Given the description of an element on the screen output the (x, y) to click on. 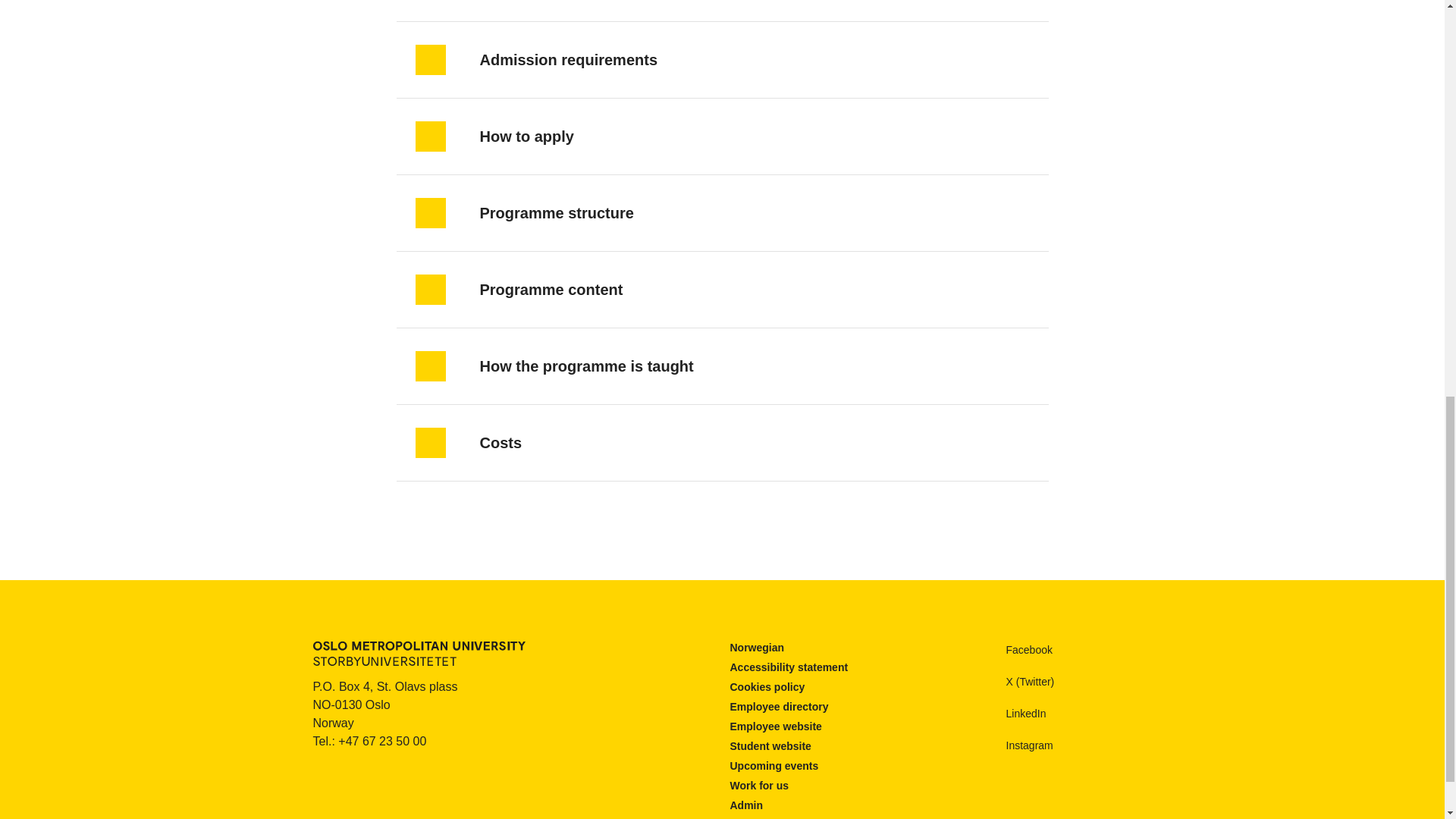
Admin (745, 805)
Instagram (1015, 745)
LinkedIn (1012, 713)
Upcoming events (773, 766)
Facebook (1015, 649)
Norwegian (756, 647)
Cookies policy (767, 686)
Employee website (775, 726)
Student website (769, 746)
Employee directory (778, 707)
Accessibility statement (788, 667)
Work for us (759, 785)
